Given the description of an element on the screen output the (x, y) to click on. 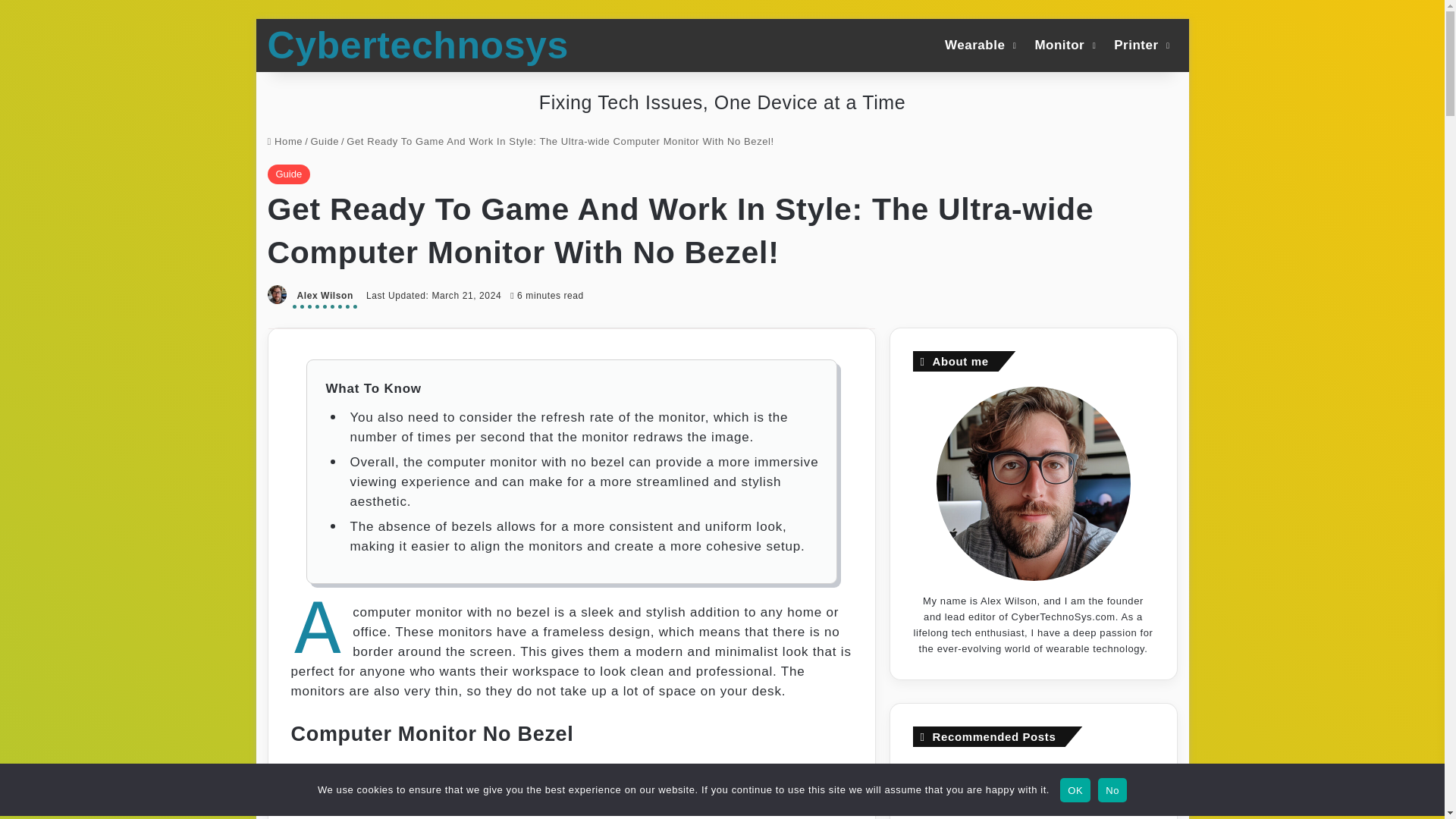
Cybertechnosys (416, 45)
Home (284, 141)
Monitor (1063, 44)
Guide (324, 141)
Guide (288, 174)
Alex Wilson (324, 297)
Cybertechnosys (416, 45)
Wearable (978, 44)
Alex Wilson (324, 297)
Printer (1139, 44)
